Given the description of an element on the screen output the (x, y) to click on. 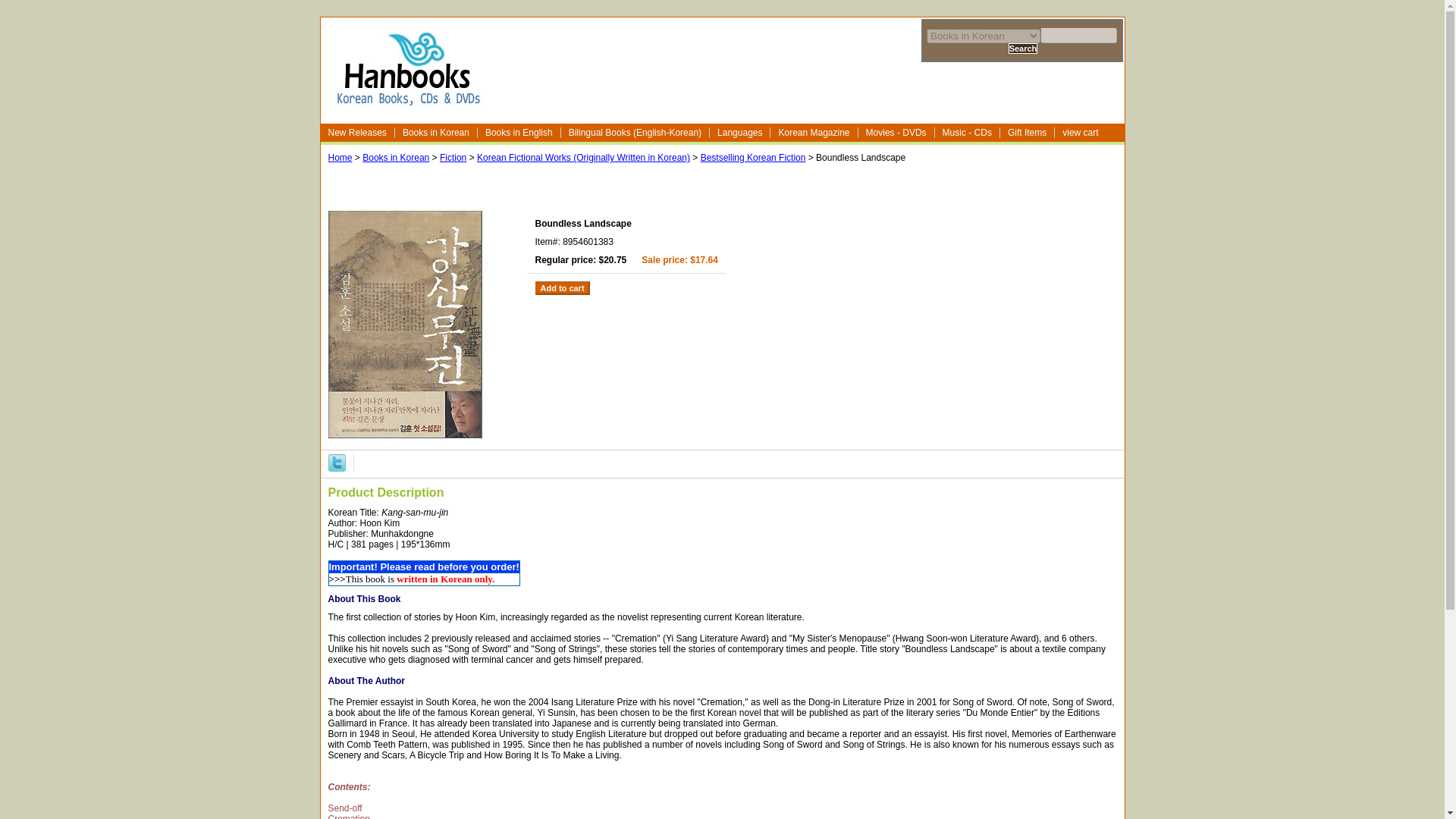
Gift Items (1027, 132)
Books in English (518, 132)
view cart (1081, 132)
New Releases (357, 132)
Fiction (452, 157)
Add to cart (562, 287)
Search (1023, 48)
Gift Items (1027, 132)
Korean Magazine (813, 132)
Music - CDs (967, 132)
